Given the description of an element on the screen output the (x, y) to click on. 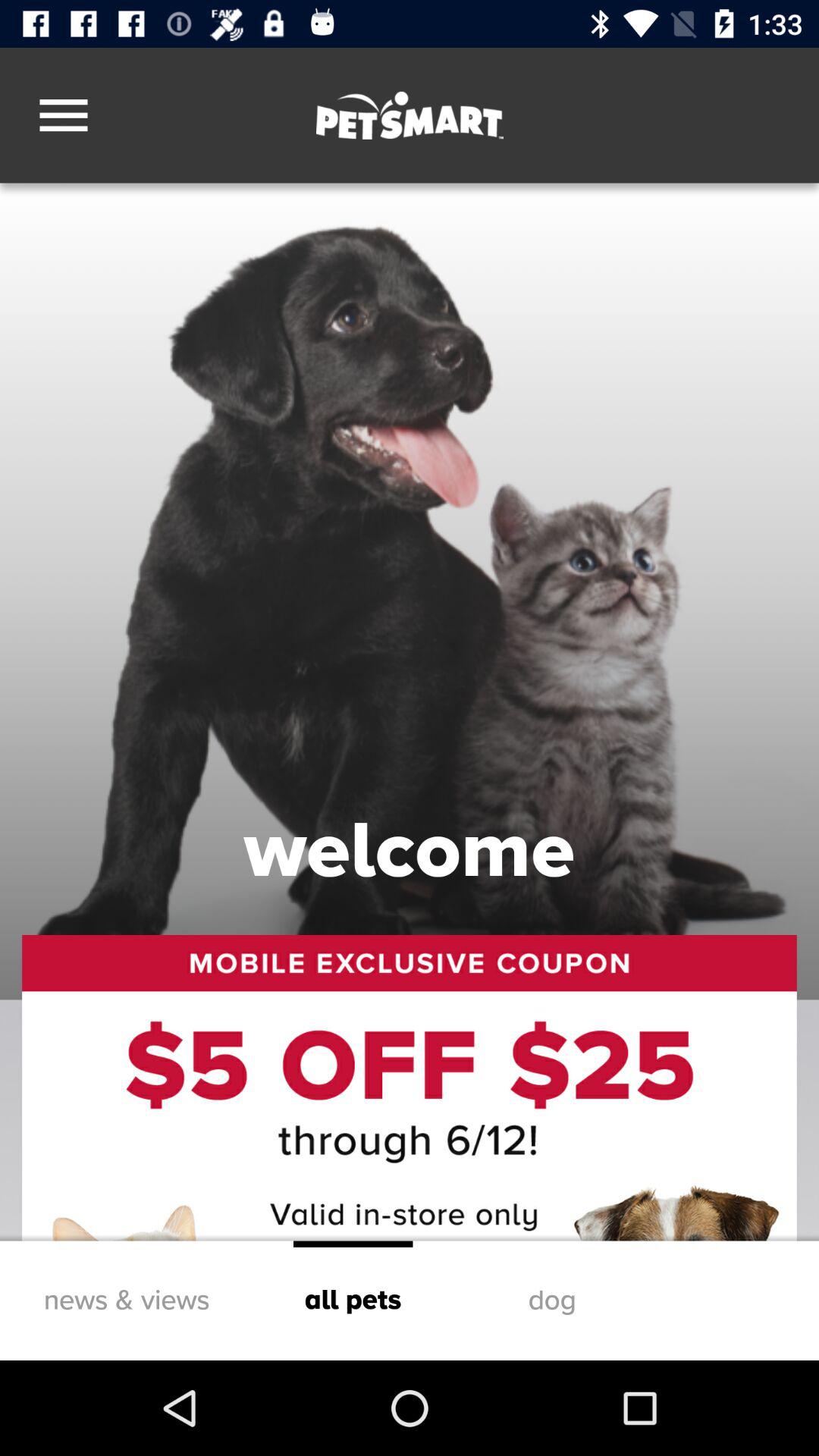
choose the icon next to the news & views item (352, 1300)
